Given the description of an element on the screen output the (x, y) to click on. 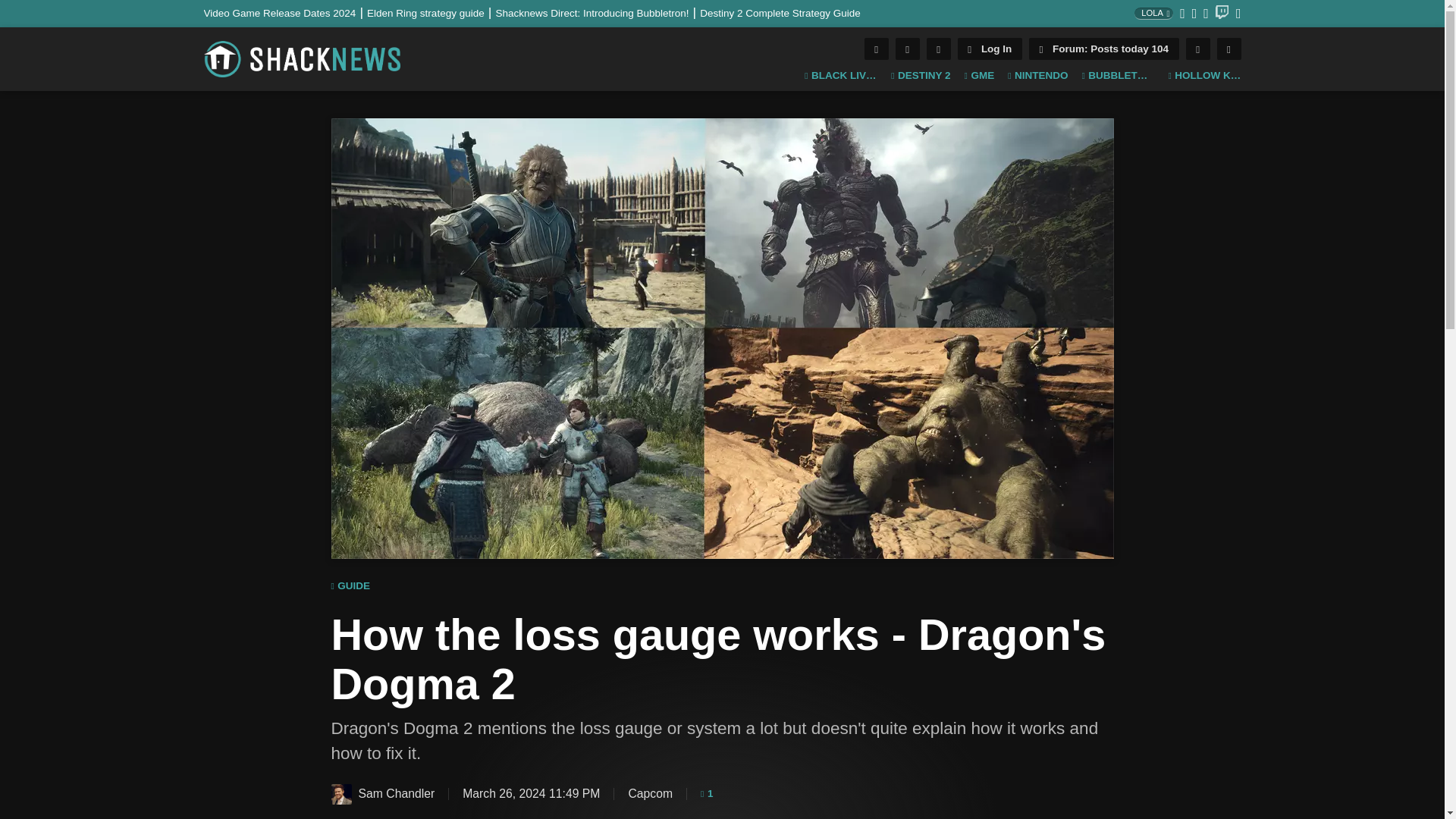
Destiny 2 Complete Strategy Guide (780, 11)
BLACK LIVES MATTER (841, 75)
Sam Chandler (340, 793)
NINTENDO (1037, 75)
Video Game Release Dates 2024 (284, 11)
GUIDE (349, 586)
DESTINY 2 (920, 75)
BUBBLETRON (1117, 75)
GME (978, 75)
HOLLOW KNIGHT: SILKSONG (1203, 75)
Shacknews Direct: Introducing Bubbletron! (597, 11)
Elden Ring strategy guide (430, 11)
